Given the description of an element on the screen output the (x, y) to click on. 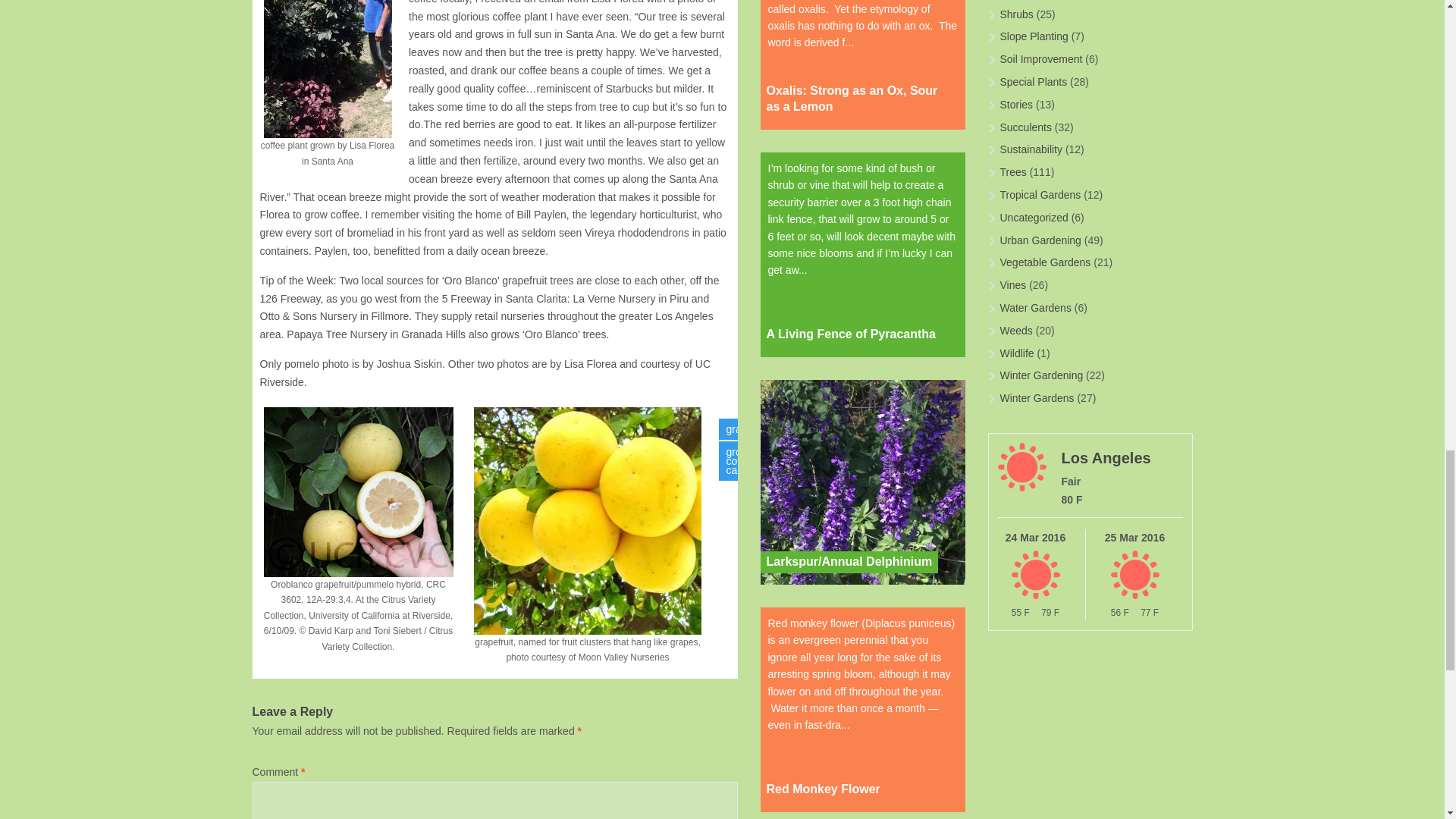
grapefruit (748, 428)
Red Monkey Flower (822, 789)
growing coffee in california (747, 460)
A Living Fence of Pyracantha (849, 334)
Oxalis: Strong as an Ox, Sour as a Lemon (857, 99)
